Given the description of an element on the screen output the (x, y) to click on. 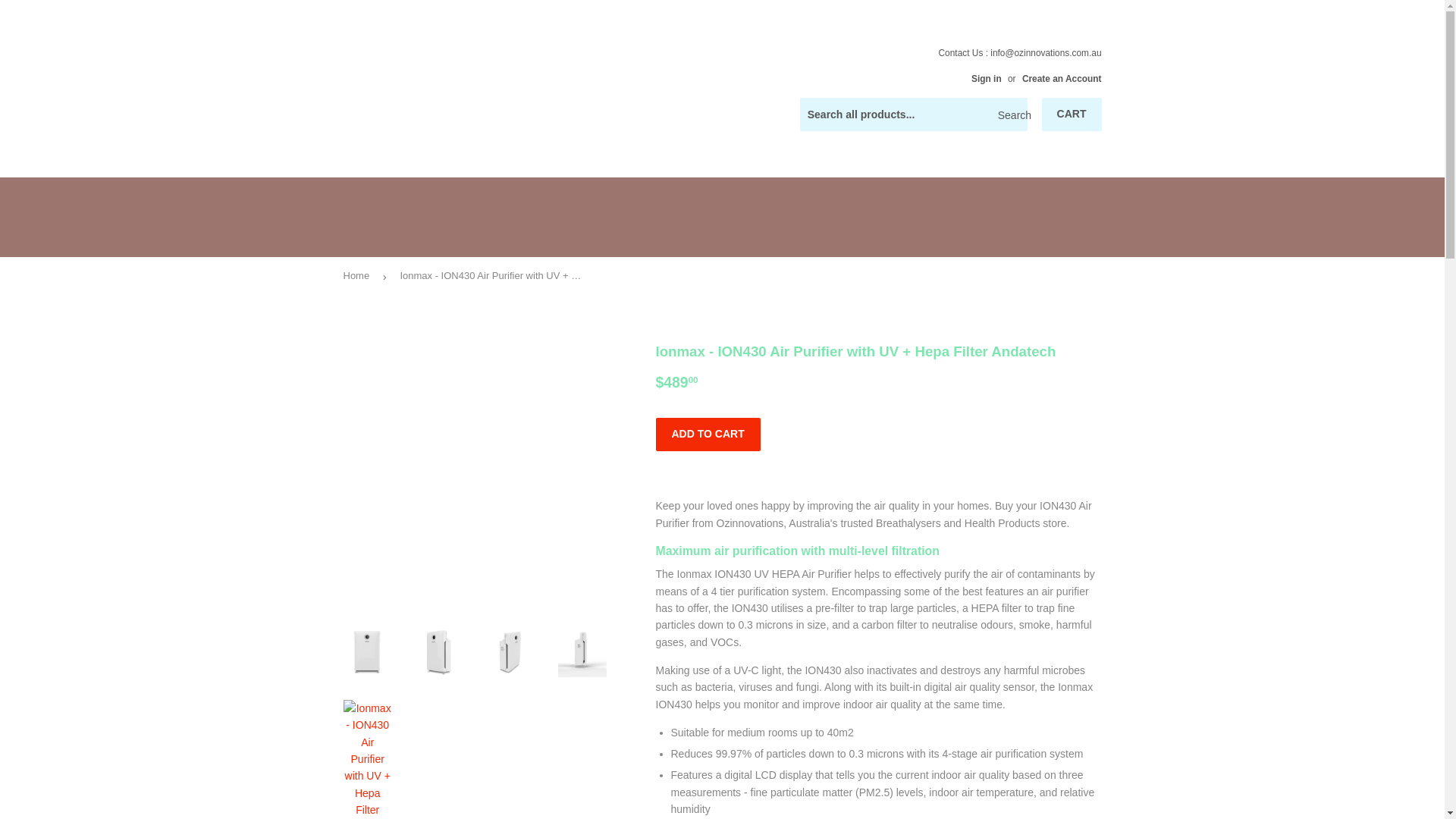
ADD TO CART (707, 434)
Search (1009, 115)
Sign in (986, 78)
CART (1072, 114)
Home (358, 276)
Create an Account (1062, 78)
Back to the frontpage (358, 276)
